Given the description of an element on the screen output the (x, y) to click on. 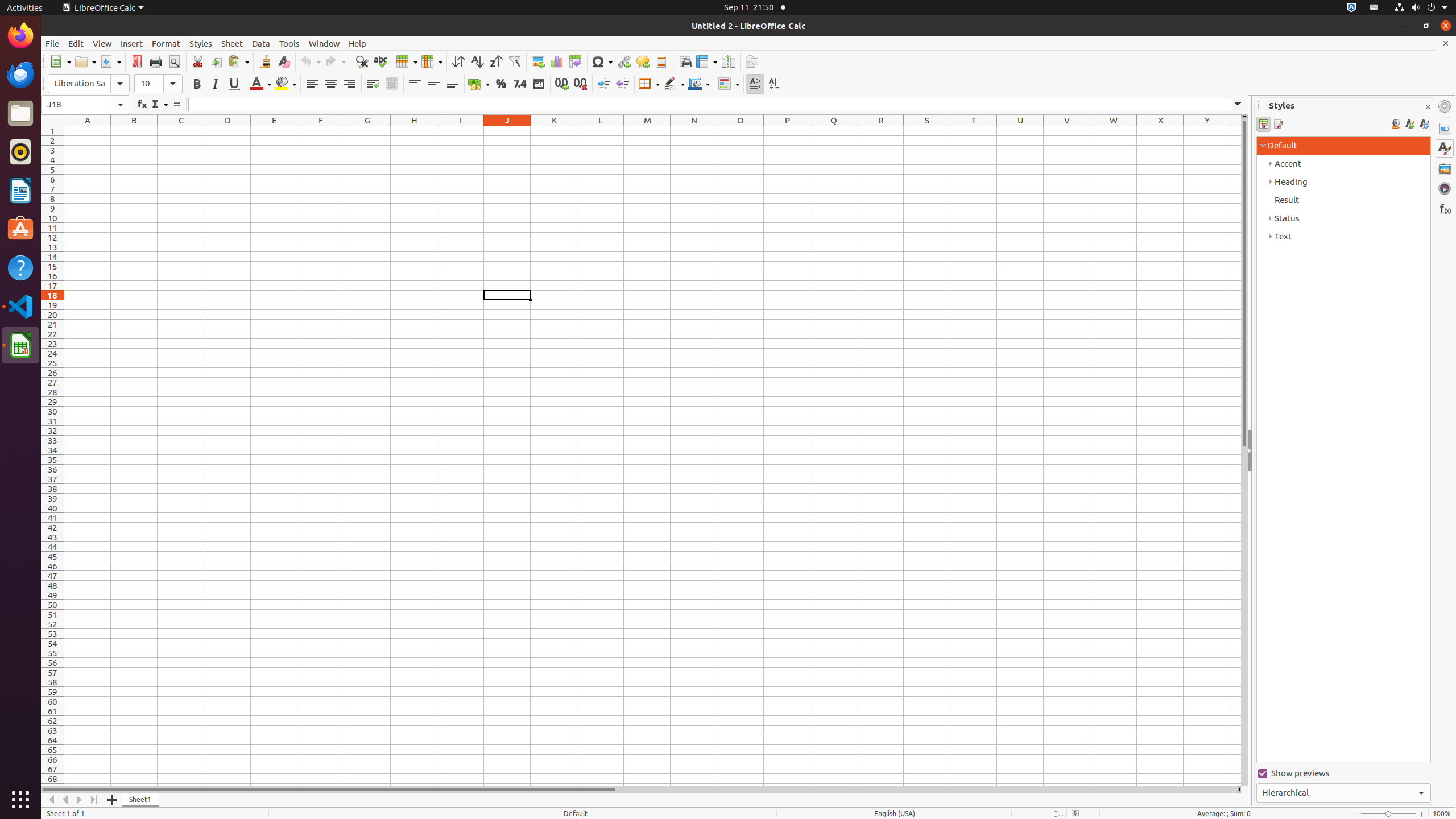
Delete Decimal Place Element type: push-button (580, 83)
N1 Element type: table-cell (693, 130)
Text direction from left to right Element type: toggle-button (754, 83)
Activities Element type: label (24, 7)
Cell Styles Element type: push-button (1263, 123)
